Given the description of an element on the screen output the (x, y) to click on. 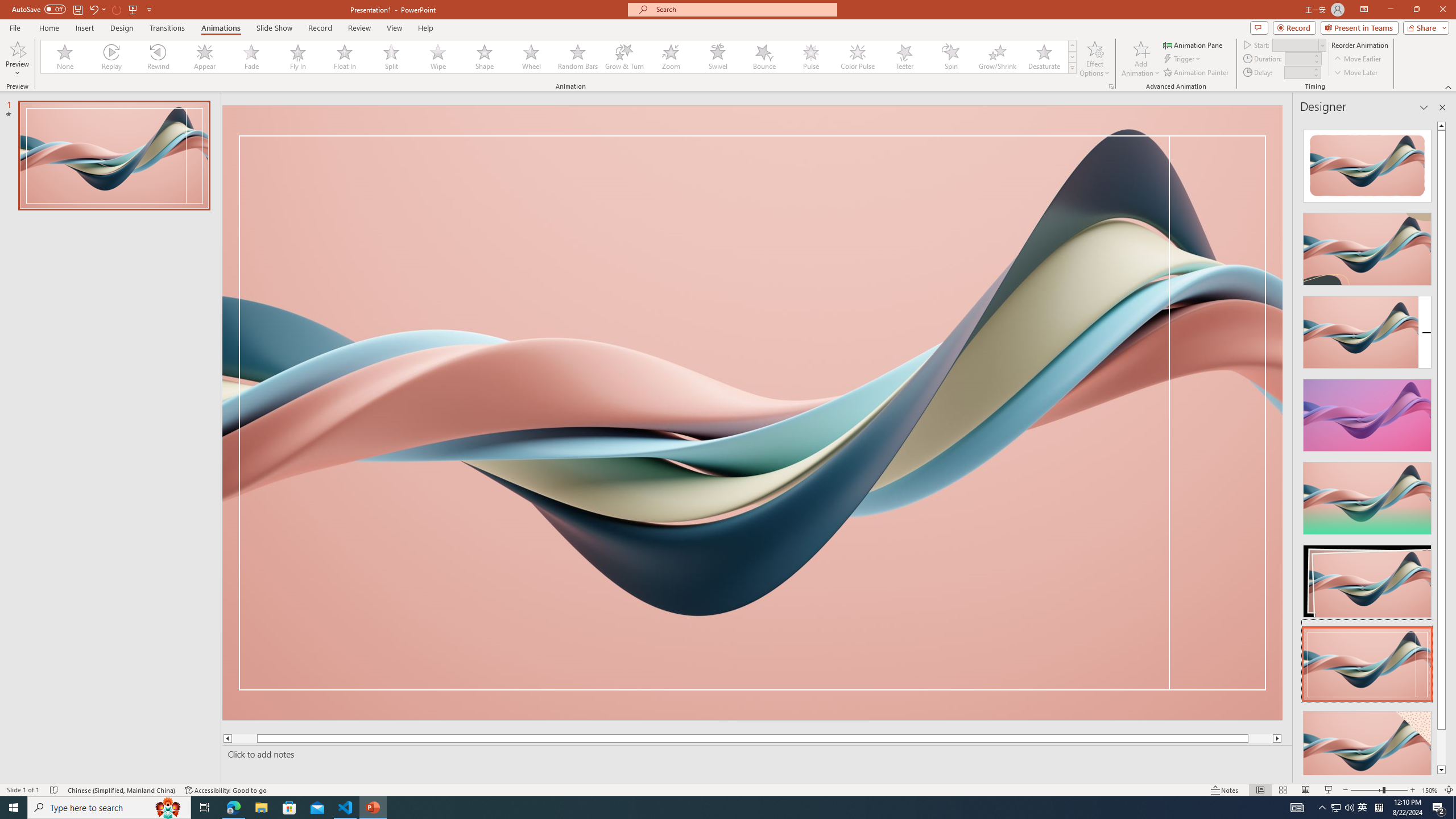
Bounce (764, 56)
Trigger (1182, 58)
